Given the description of an element on the screen output the (x, y) to click on. 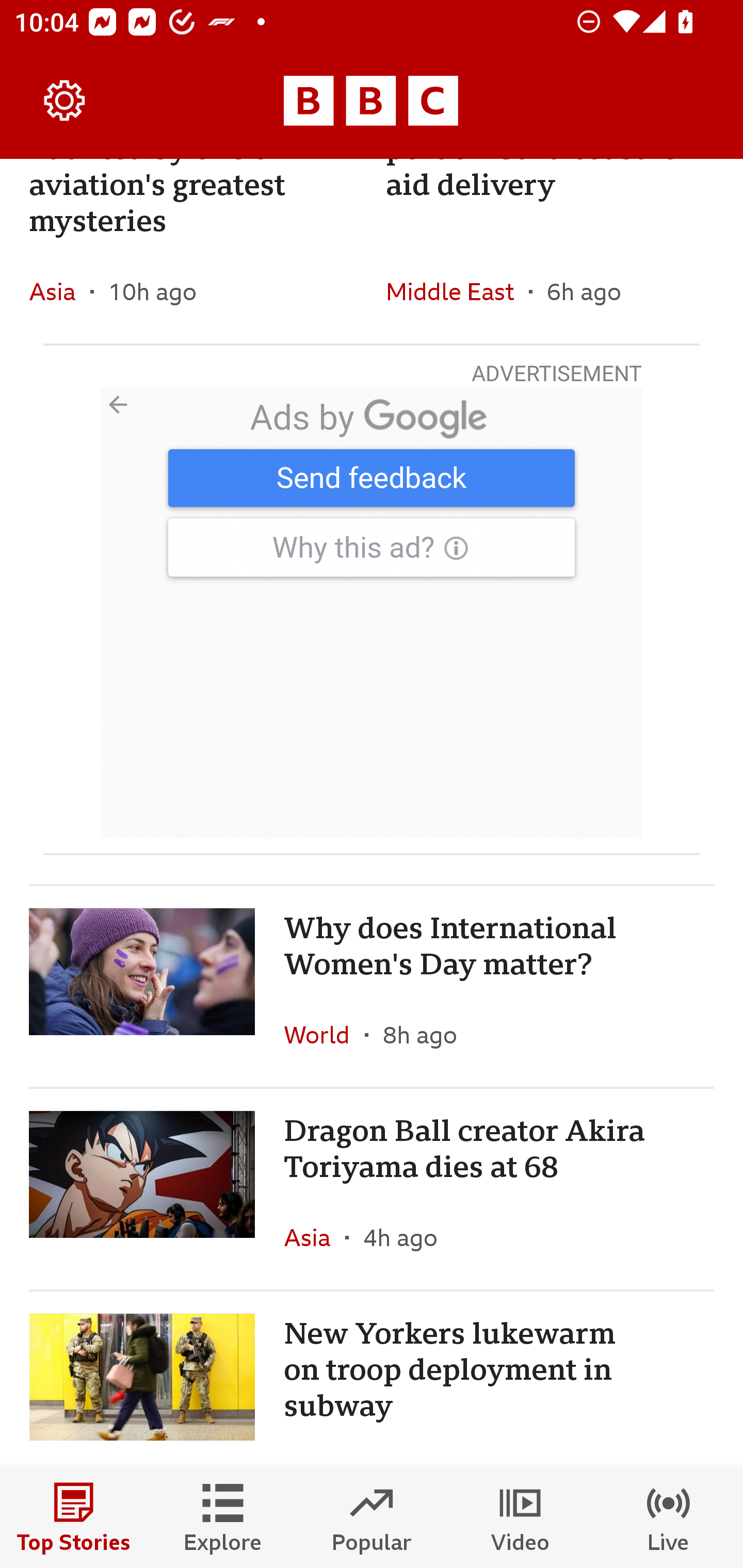
Settings (64, 100)
Asia In the section Asia (59, 291)
Middle East In the section Middle East (457, 291)
Janus Henderson Investors (371, 612)
World In the section World (323, 1034)
Asia In the section Asia (314, 1236)
Explore (222, 1517)
Popular (371, 1517)
Video (519, 1517)
Live (668, 1517)
